Given the description of an element on the screen output the (x, y) to click on. 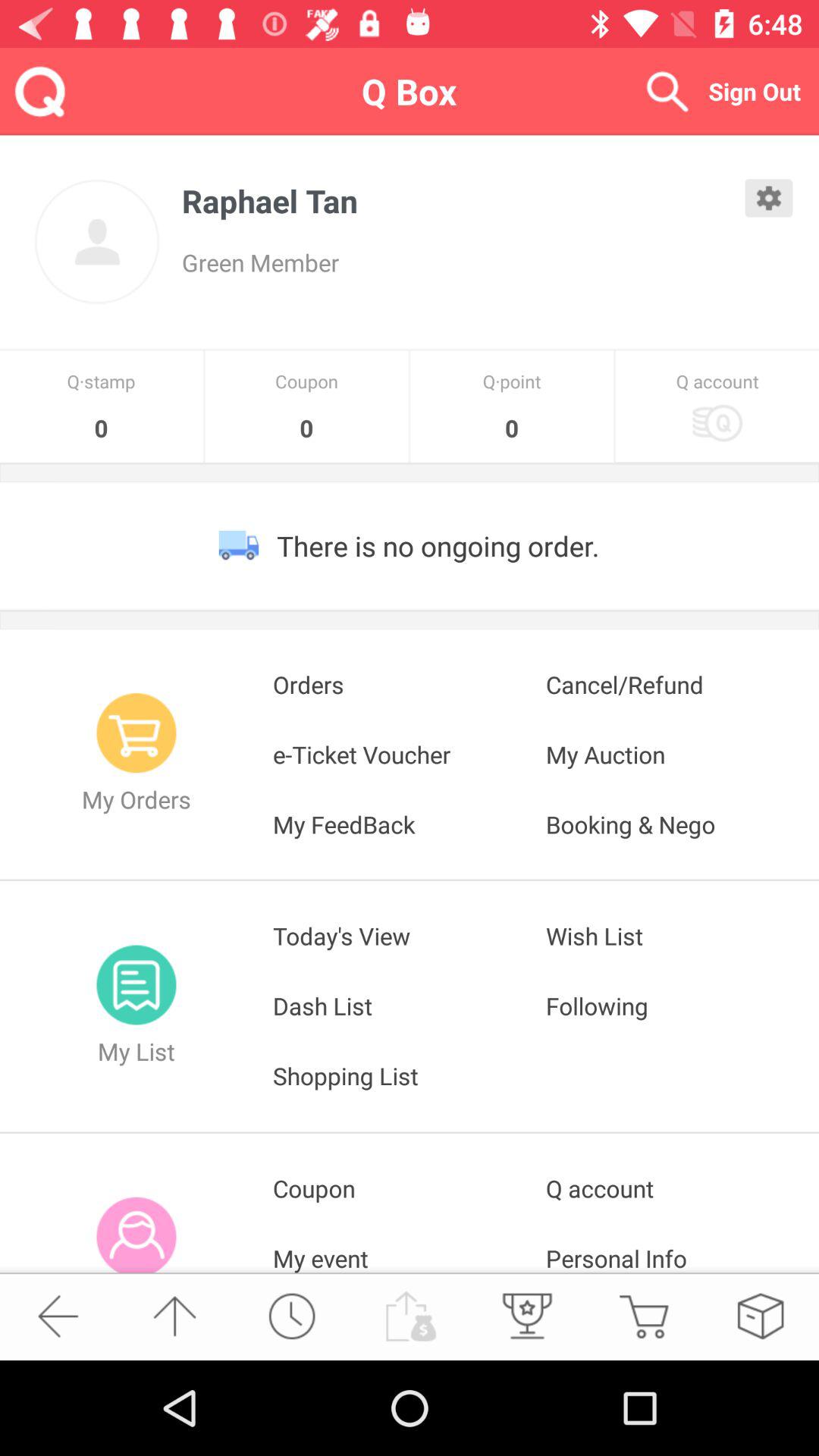
launch the item below the my info app (291, 1316)
